Given the description of an element on the screen output the (x, y) to click on. 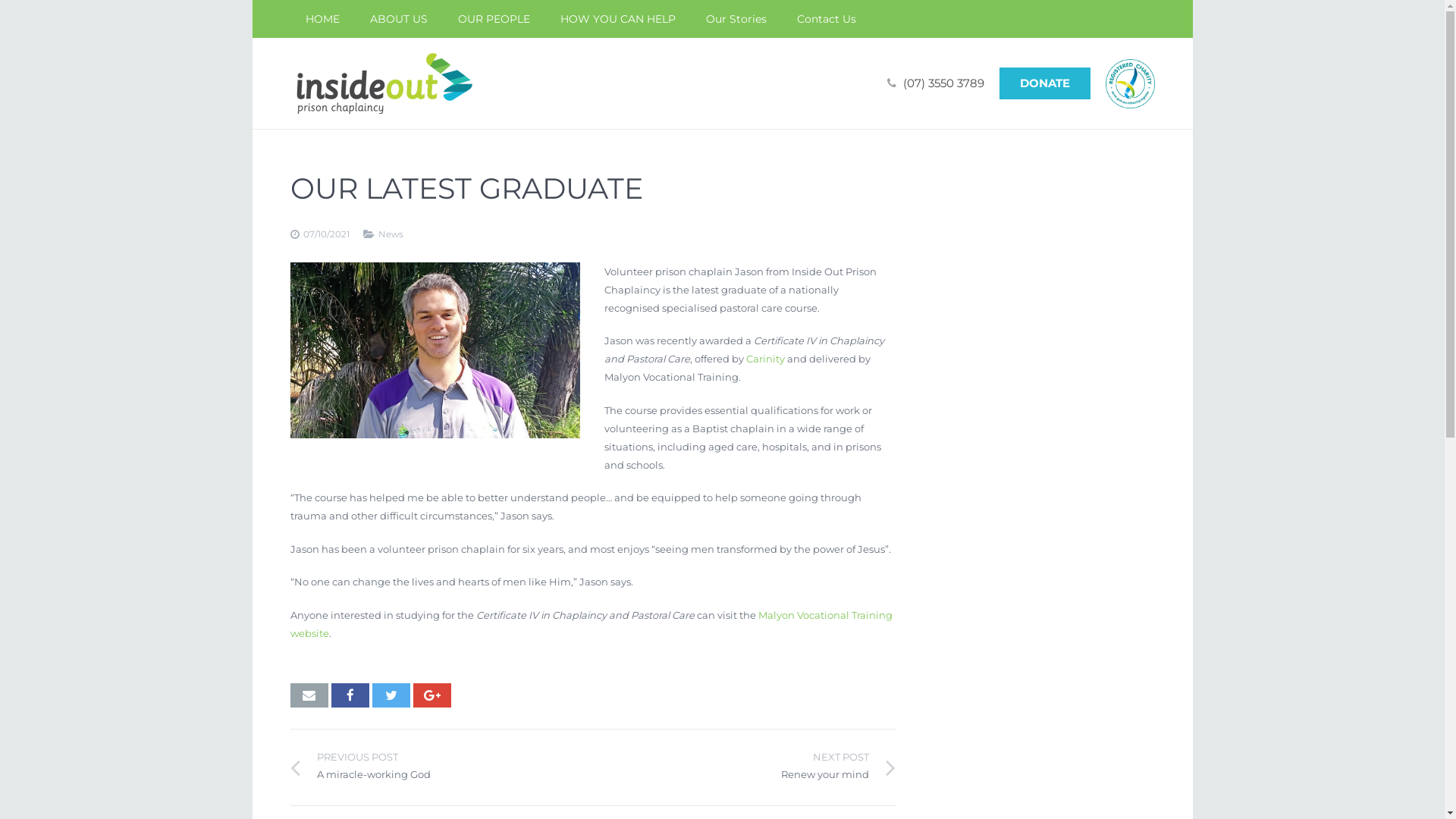
News Element type: text (389, 234)
Share this Element type: hover (431, 695)
OUR PEOPLE Element type: text (493, 18)
Tweet this Element type: hover (390, 695)
HOME Element type: text (321, 18)
HOW YOU CAN HELP Element type: text (617, 18)
Share this Element type: hover (349, 695)
DONATE Element type: text (1044, 83)
Our Stories Element type: text (735, 18)
NEXT POST
Renew your mind Element type: text (744, 767)
Malyon Vocational Training website Element type: text (590, 623)
ABOUT US Element type: text (398, 18)
PREVIOUS POST
A miracle-working God Element type: text (440, 767)
Contact Us Element type: text (825, 18)
Carinity Element type: text (765, 358)
Email this Element type: hover (308, 695)
